Given the description of an element on the screen output the (x, y) to click on. 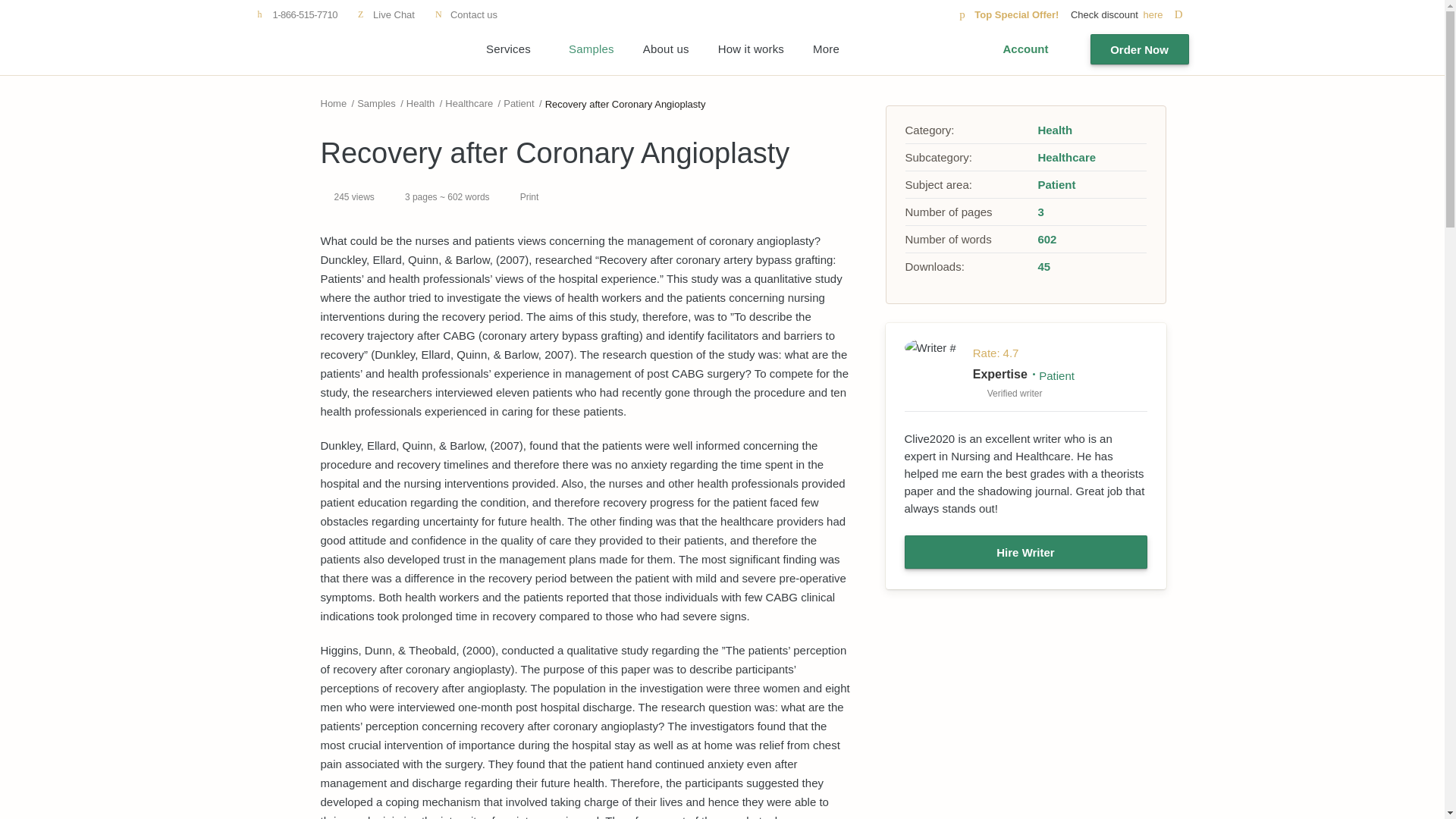
Samples (591, 49)
Patient (518, 102)
Samples (376, 102)
Healthcare (469, 102)
How it works (750, 49)
Account (1025, 49)
Print (522, 197)
Order Now (1139, 49)
here (1165, 14)
About us (665, 49)
